Given the description of an element on the screen output the (x, y) to click on. 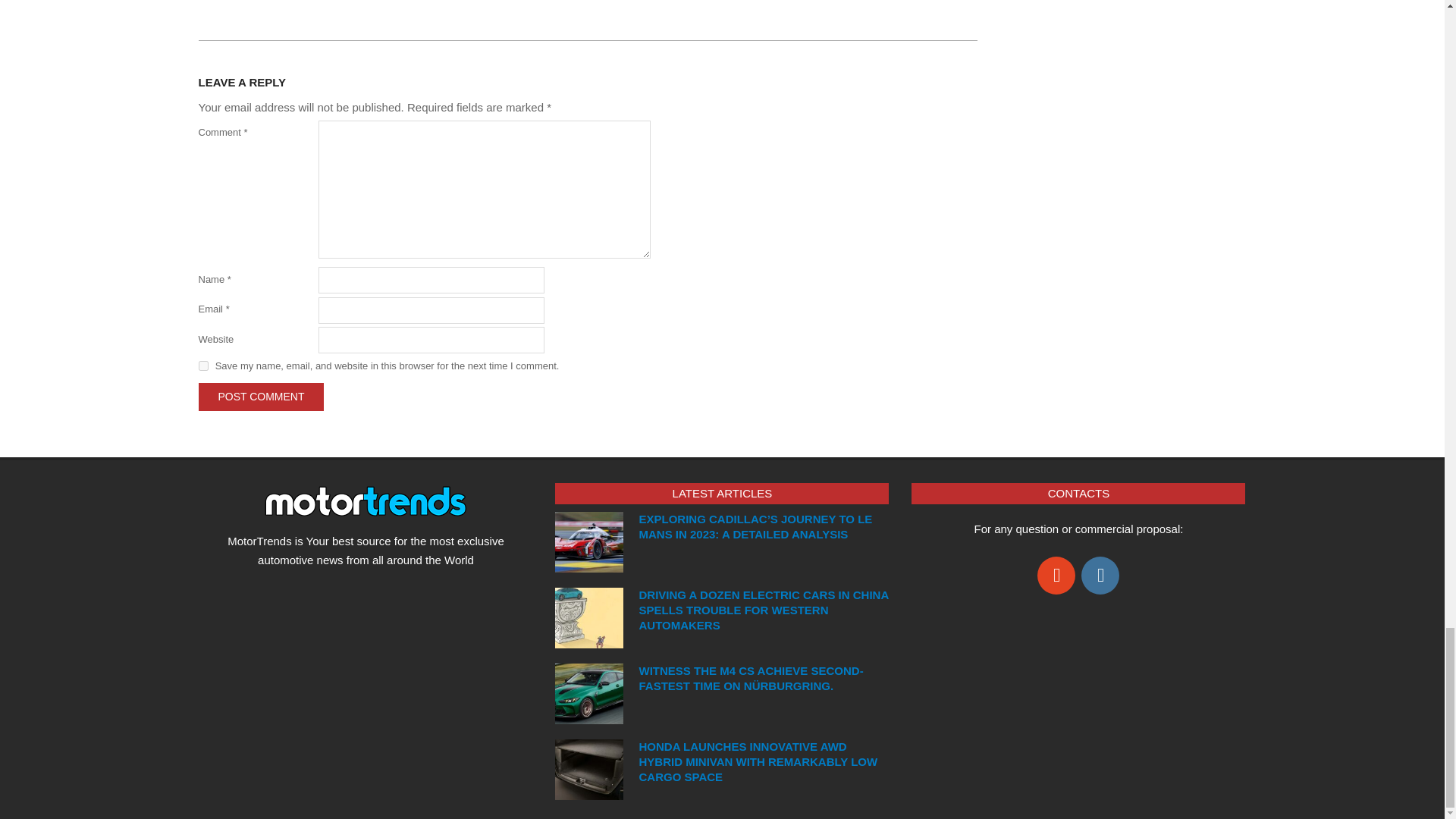
yes (203, 366)
Post Comment (261, 397)
Post Comment (261, 397)
